Given the description of an element on the screen output the (x, y) to click on. 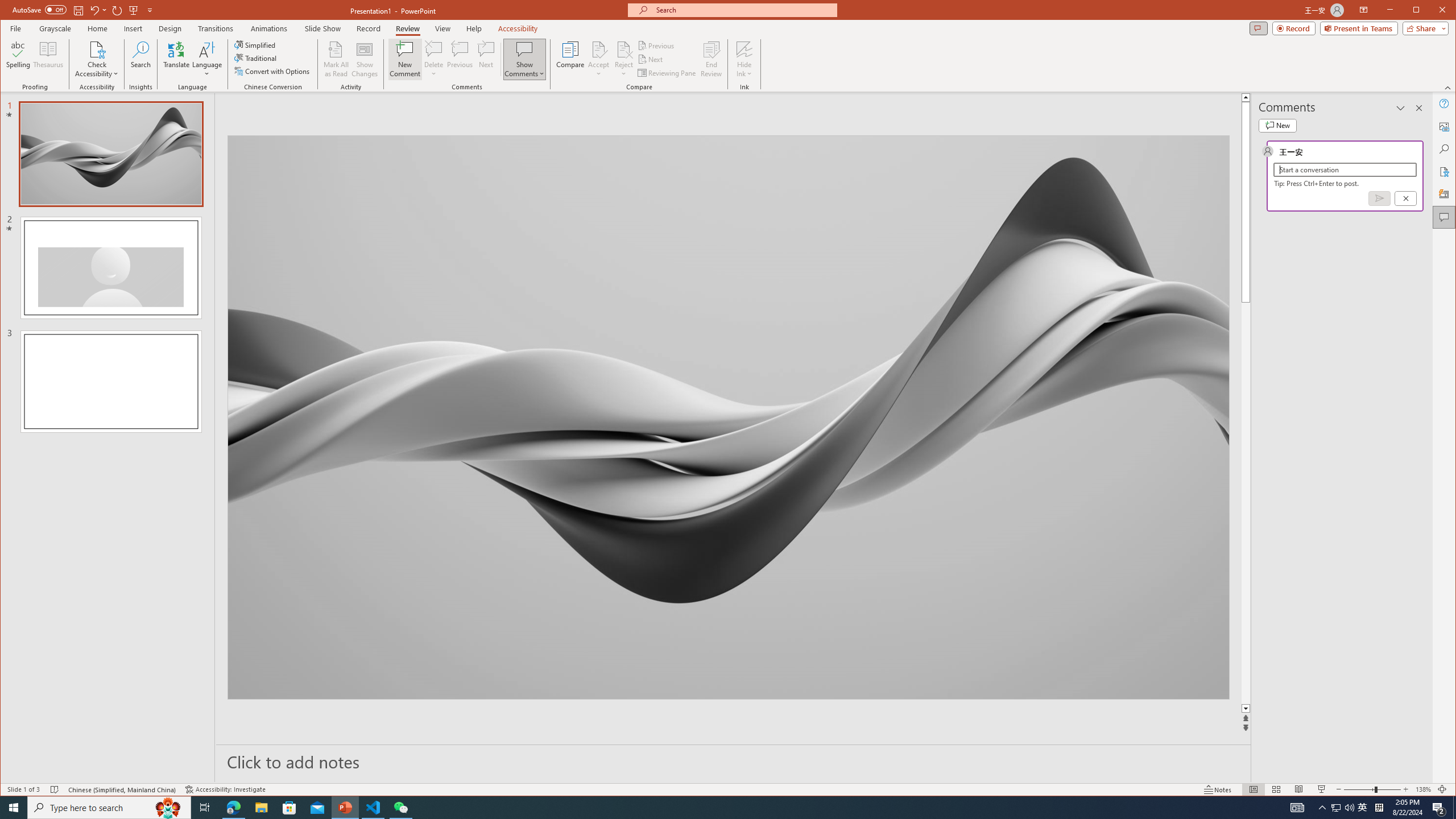
Start a conversation (1344, 169)
Zoom 138% (1422, 789)
Accept Change (598, 48)
New Comment (405, 59)
Wavy 3D art (728, 416)
